Given the description of an element on the screen output the (x, y) to click on. 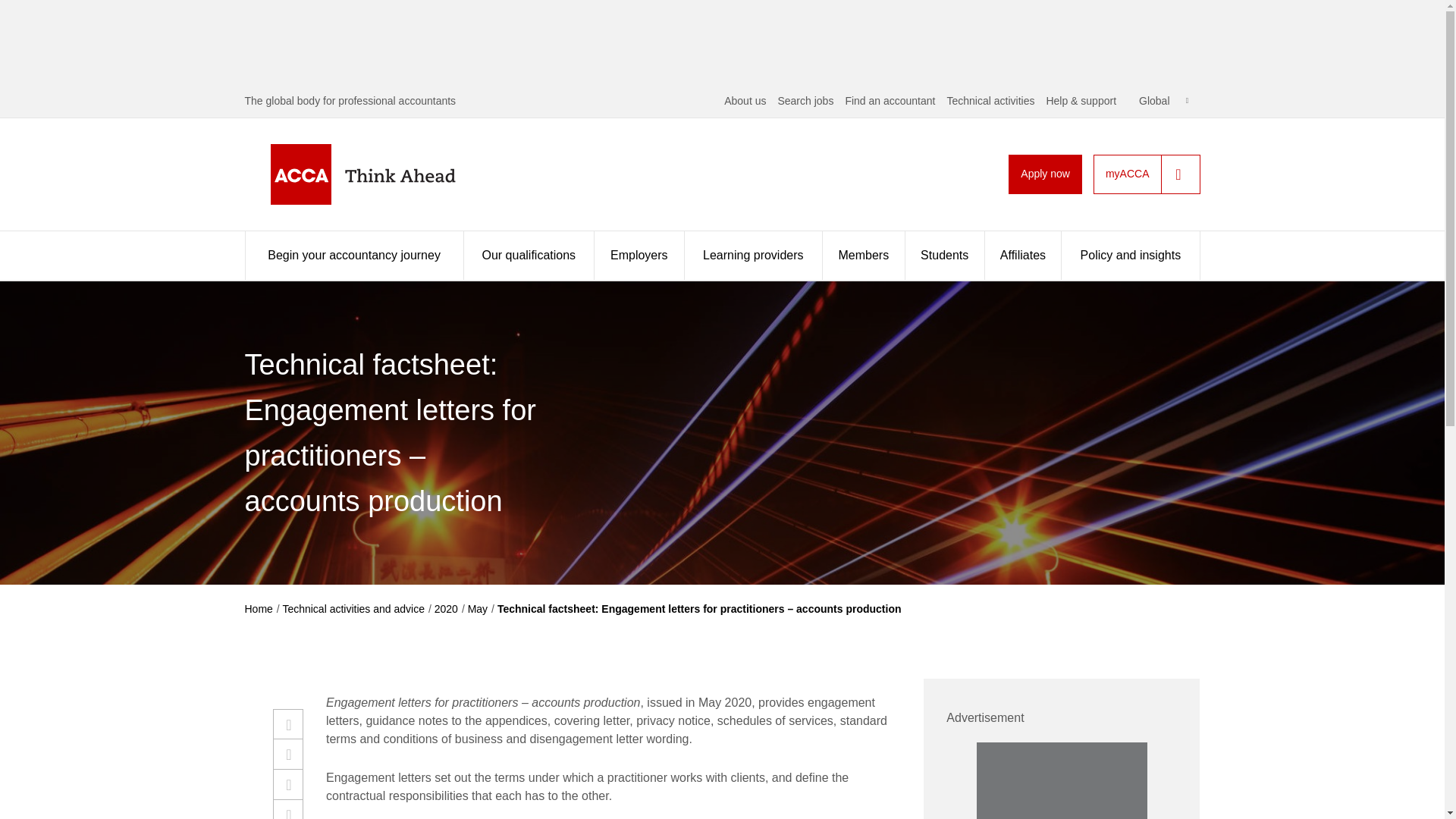
Find an accountant (889, 101)
Global (1162, 100)
Search jobs (804, 101)
Global (1162, 100)
Technical activities (989, 101)
About us (744, 101)
ACCA - Think Ahead (387, 174)
